Given the description of an element on the screen output the (x, y) to click on. 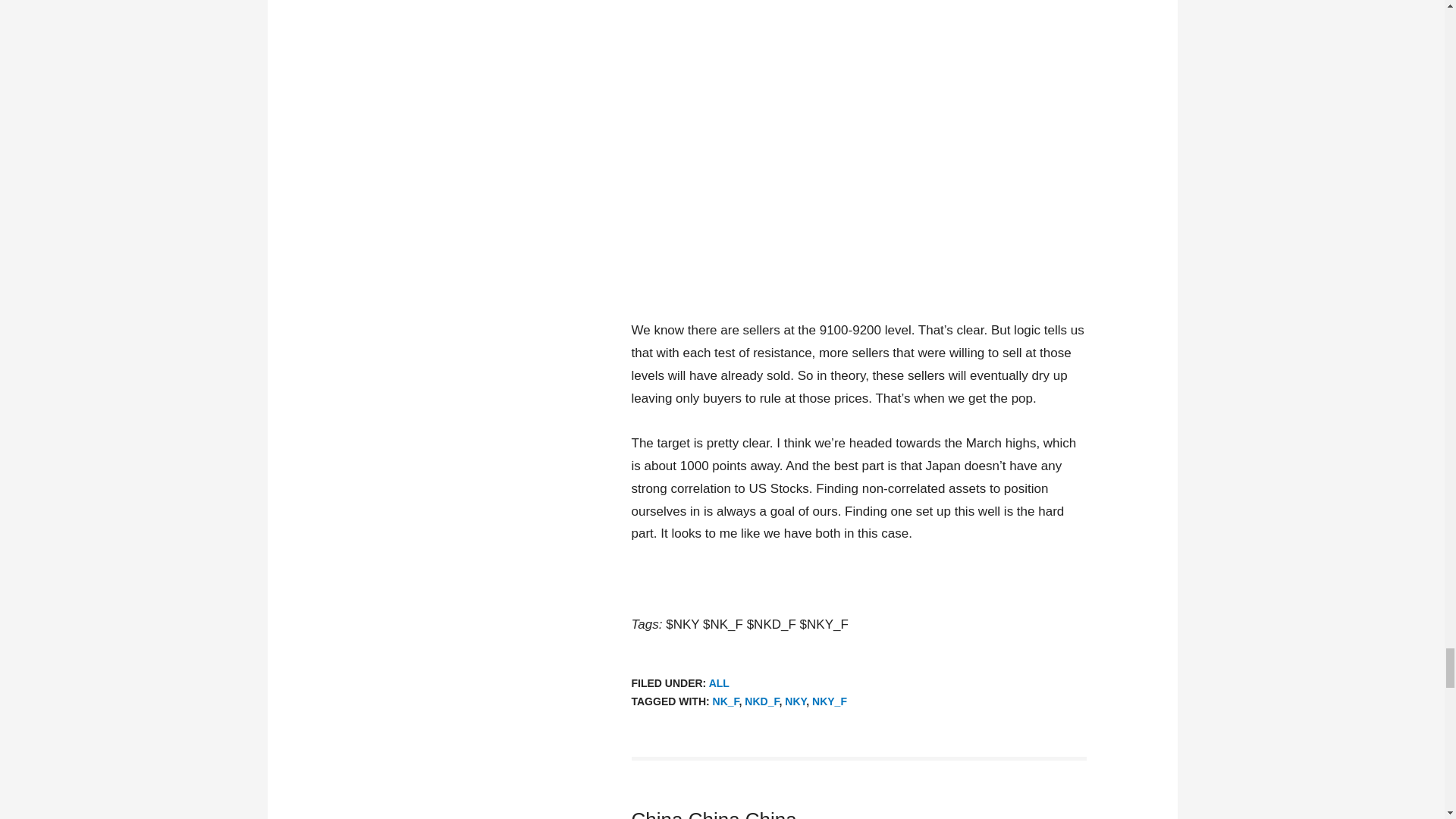
11-19-12 Nikkei (858, 148)
